Given the description of an element on the screen output the (x, y) to click on. 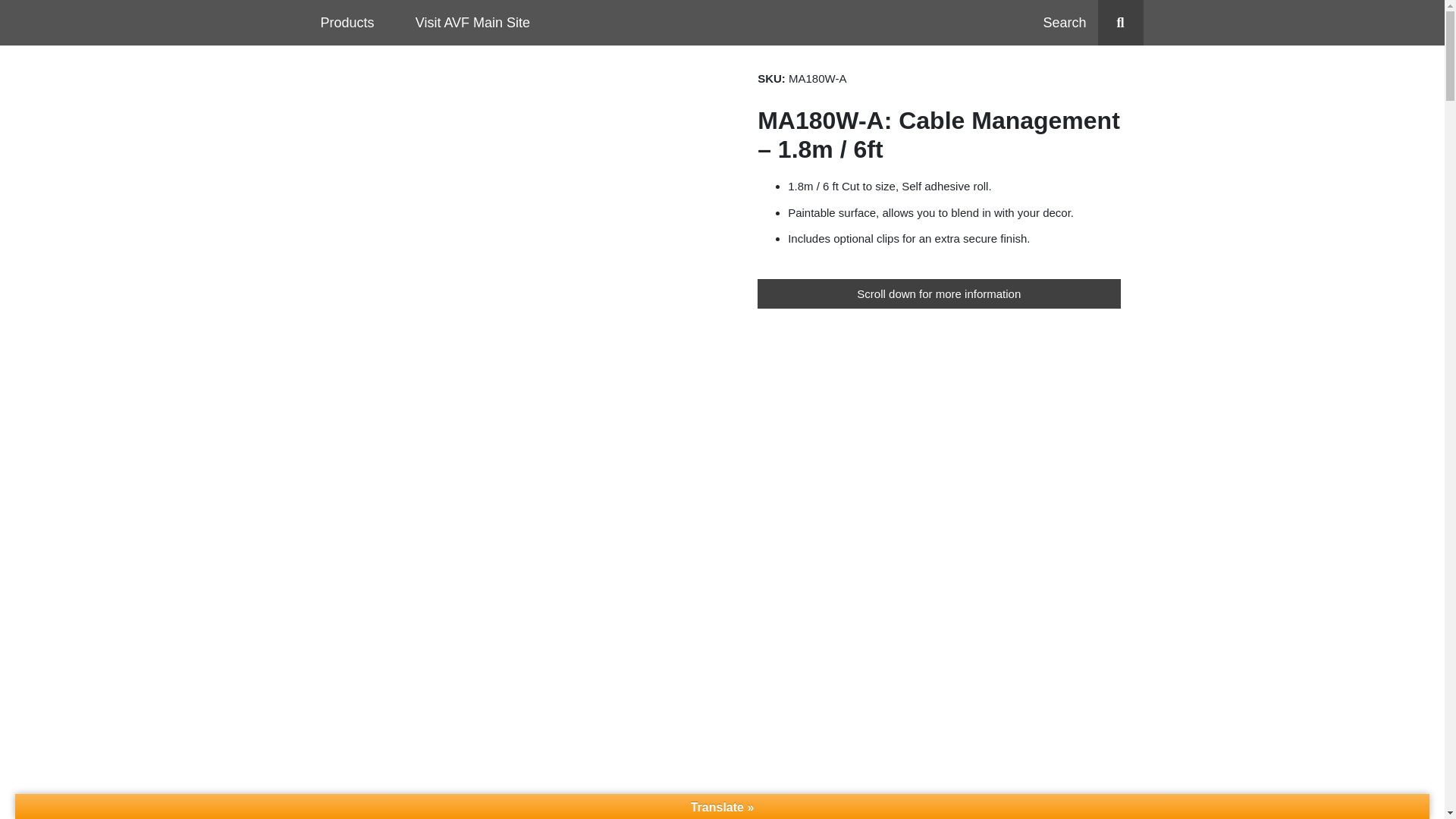
Search (1092, 22)
Scroll down for more information (938, 293)
Visit AVF Main Site (472, 22)
Products (346, 22)
